Given the description of an element on the screen output the (x, y) to click on. 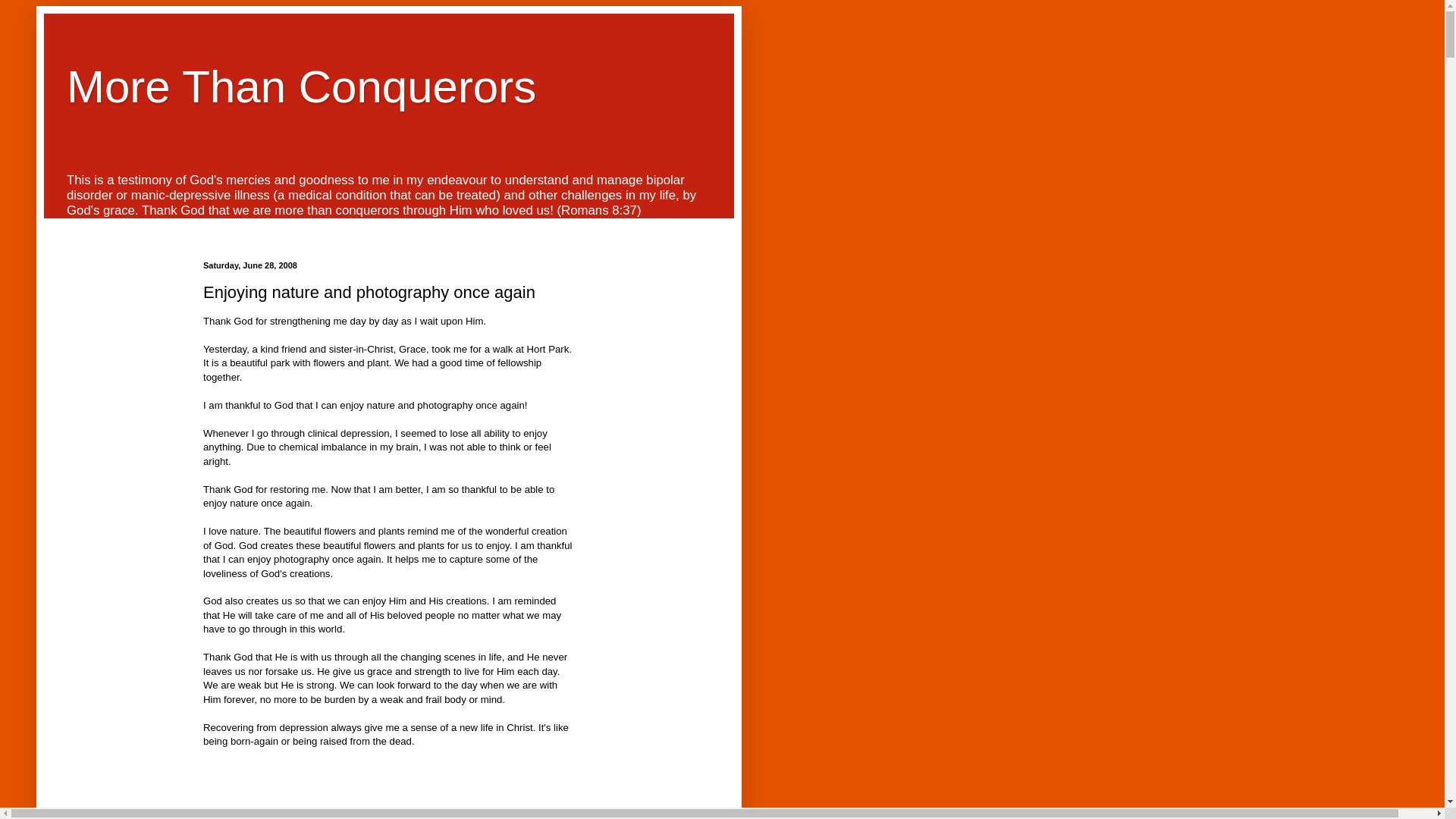
Advertisement (389, 784)
More Than Conquerors (300, 86)
